Given the description of an element on the screen output the (x, y) to click on. 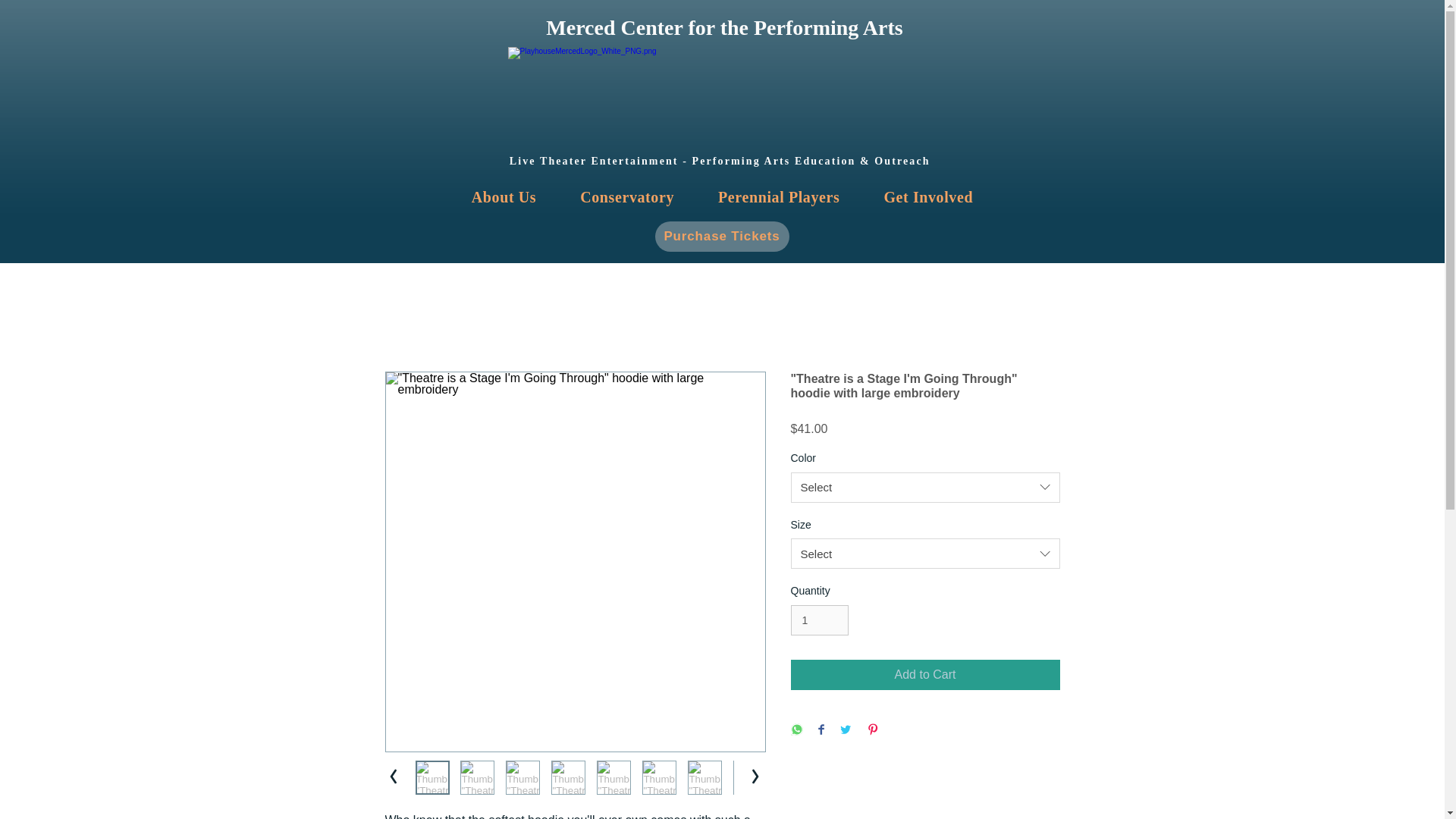
Get Involved (927, 196)
1 (818, 620)
About Us (721, 196)
Perennial Players (503, 196)
Purchase Tickets (778, 196)
Select (722, 236)
Select (924, 487)
Add to Cart (924, 553)
Conservatory (924, 675)
